Given the description of an element on the screen output the (x, y) to click on. 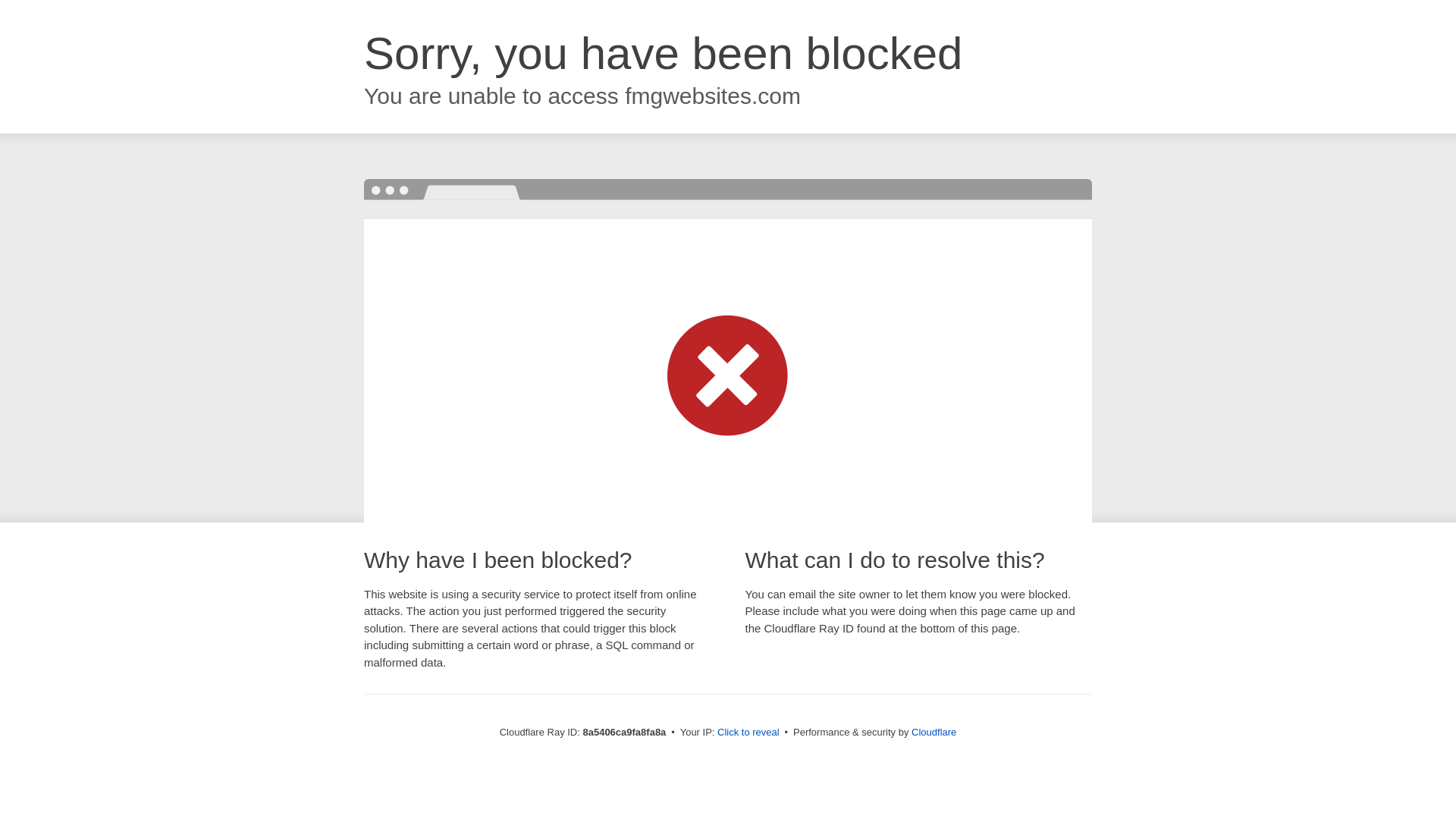
Cloudflare (933, 731)
Click to reveal (747, 732)
